Given the description of an element on the screen output the (x, y) to click on. 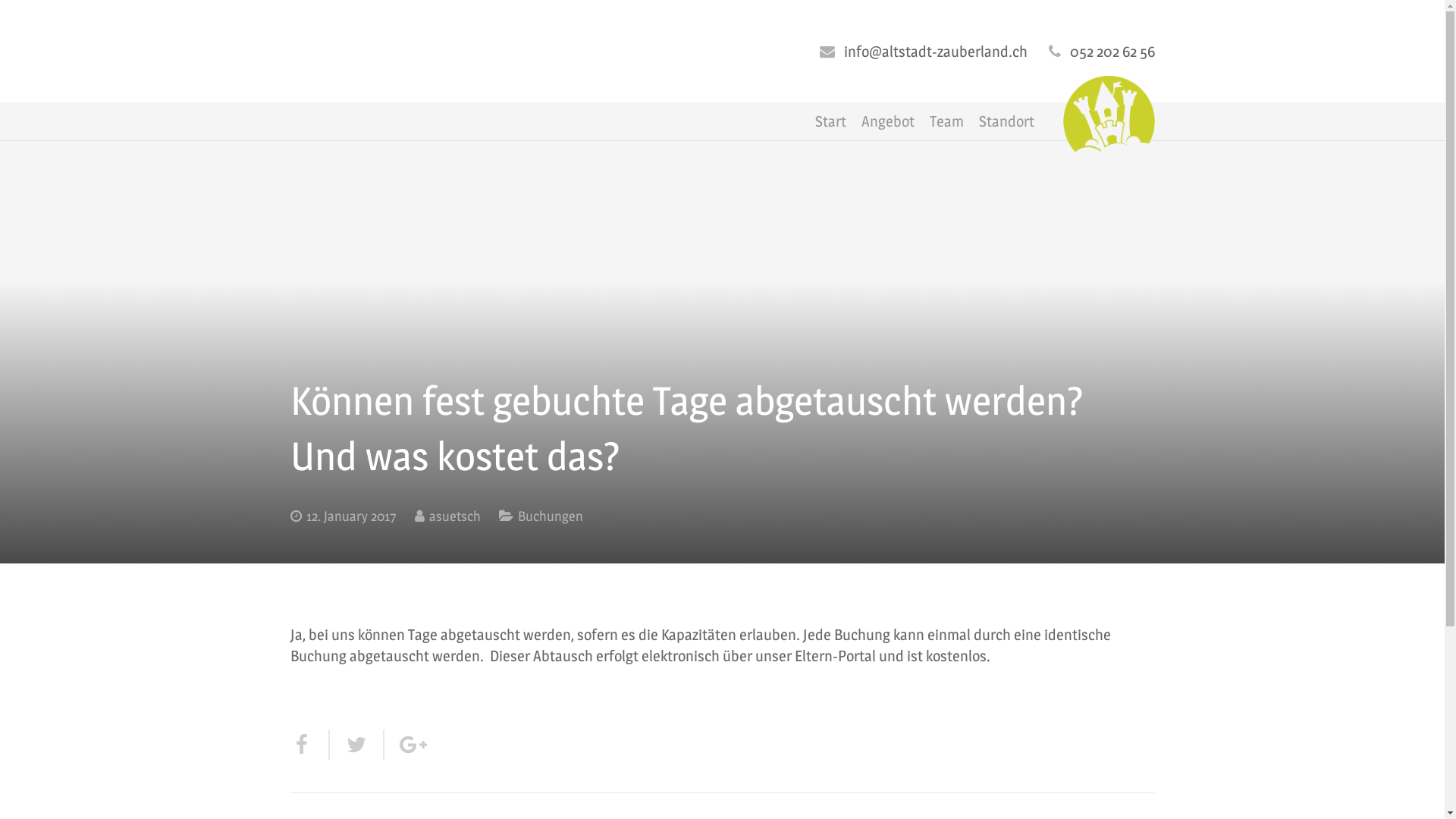
Team Element type: text (946, 121)
Standort Element type: text (1006, 121)
asuetsch Element type: text (454, 516)
info@altstadt-zauberland.ch Element type: text (934, 51)
Buchungen Element type: text (549, 516)
Share this Element type: hover (309, 744)
Tweet this Element type: hover (356, 744)
Start Element type: text (830, 121)
Share this Element type: hover (402, 744)
Angebot Element type: text (887, 121)
